Given the description of an element on the screen output the (x, y) to click on. 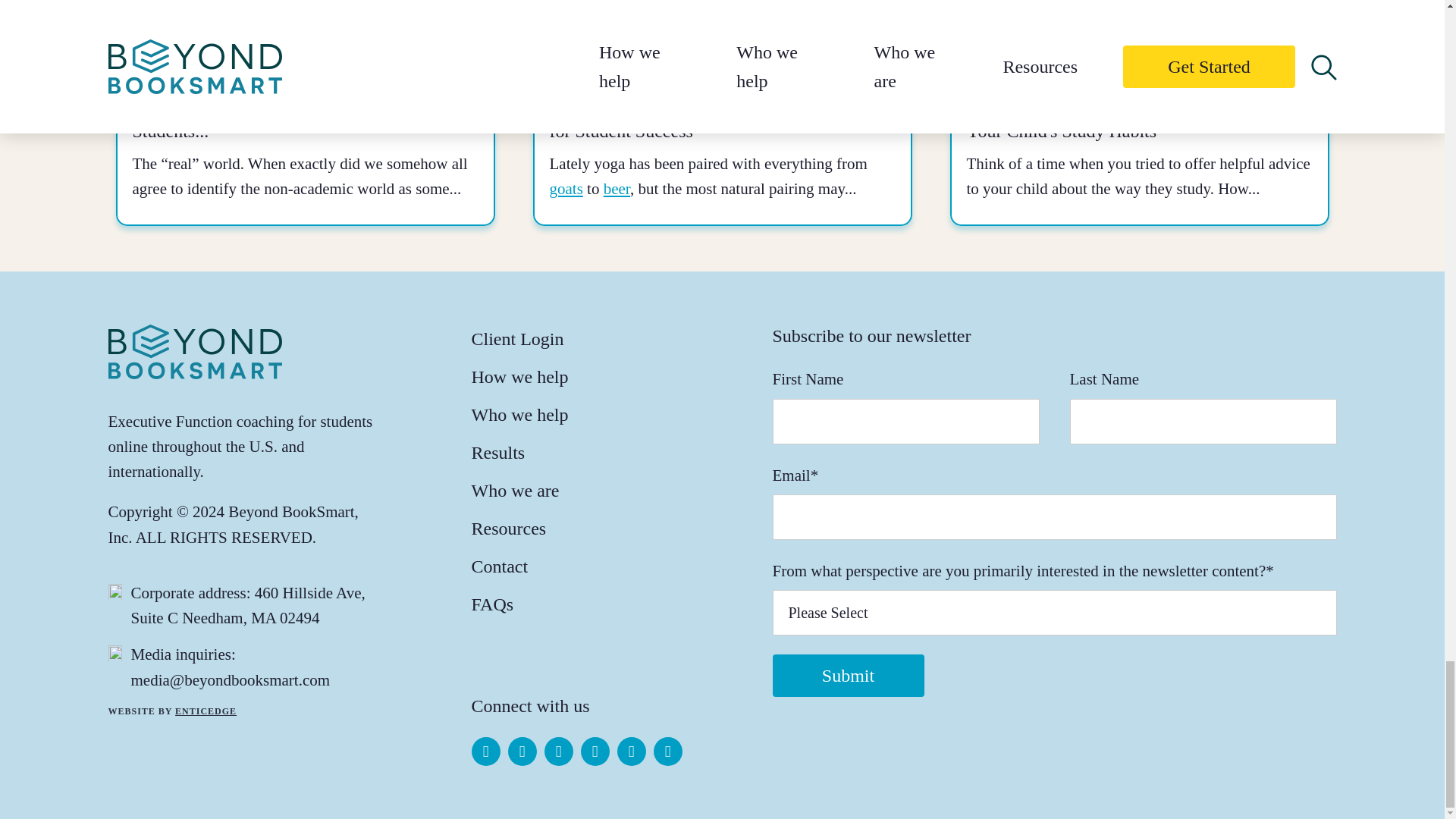
brand (194, 351)
Submit (847, 675)
